Given the description of an element on the screen output the (x, y) to click on. 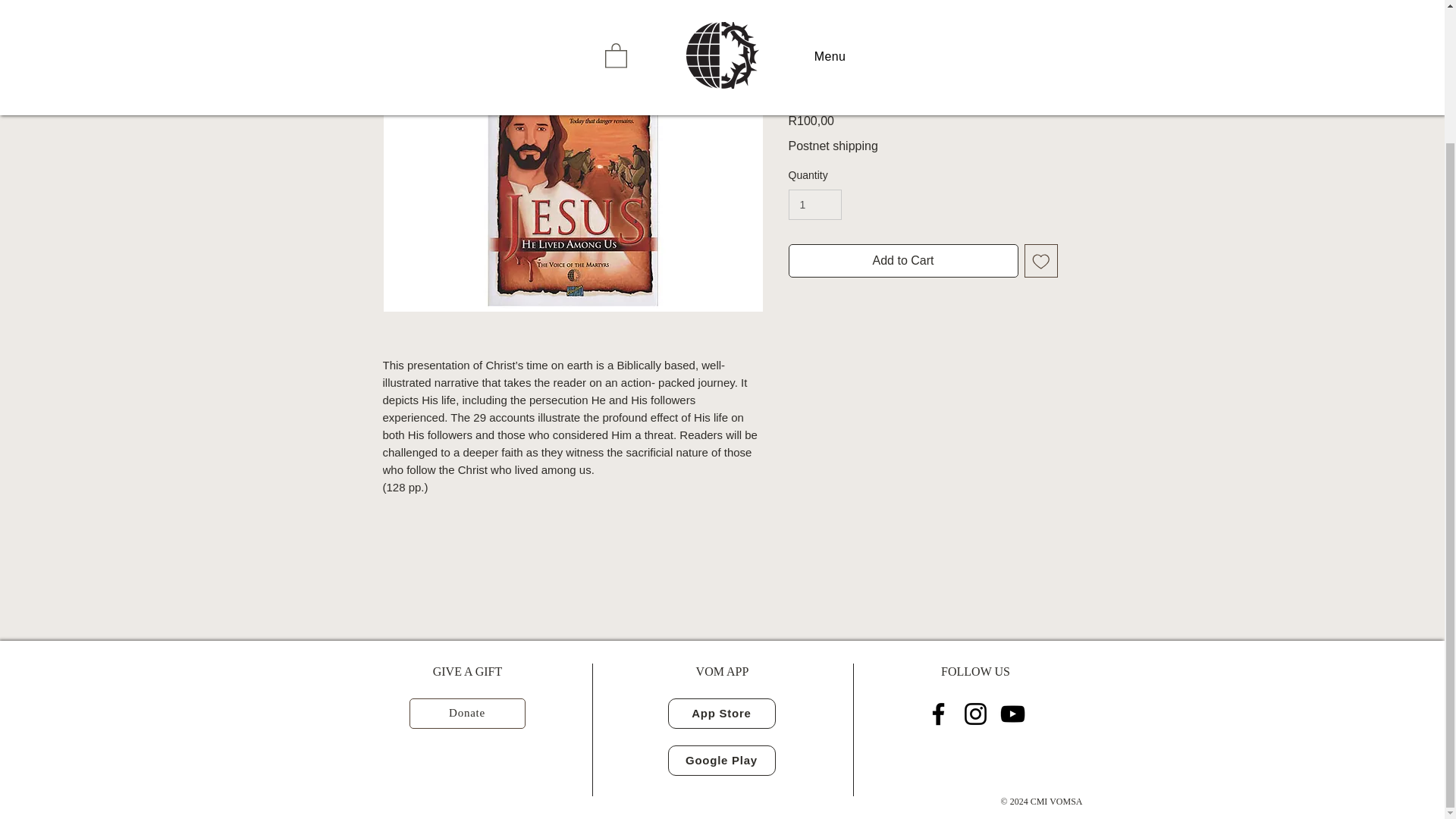
1 (816, 204)
Donate (467, 713)
App Store (720, 713)
Add to Cart (903, 260)
Postnet shipping (833, 146)
Google Play (720, 760)
